Given the description of an element on the screen output the (x, y) to click on. 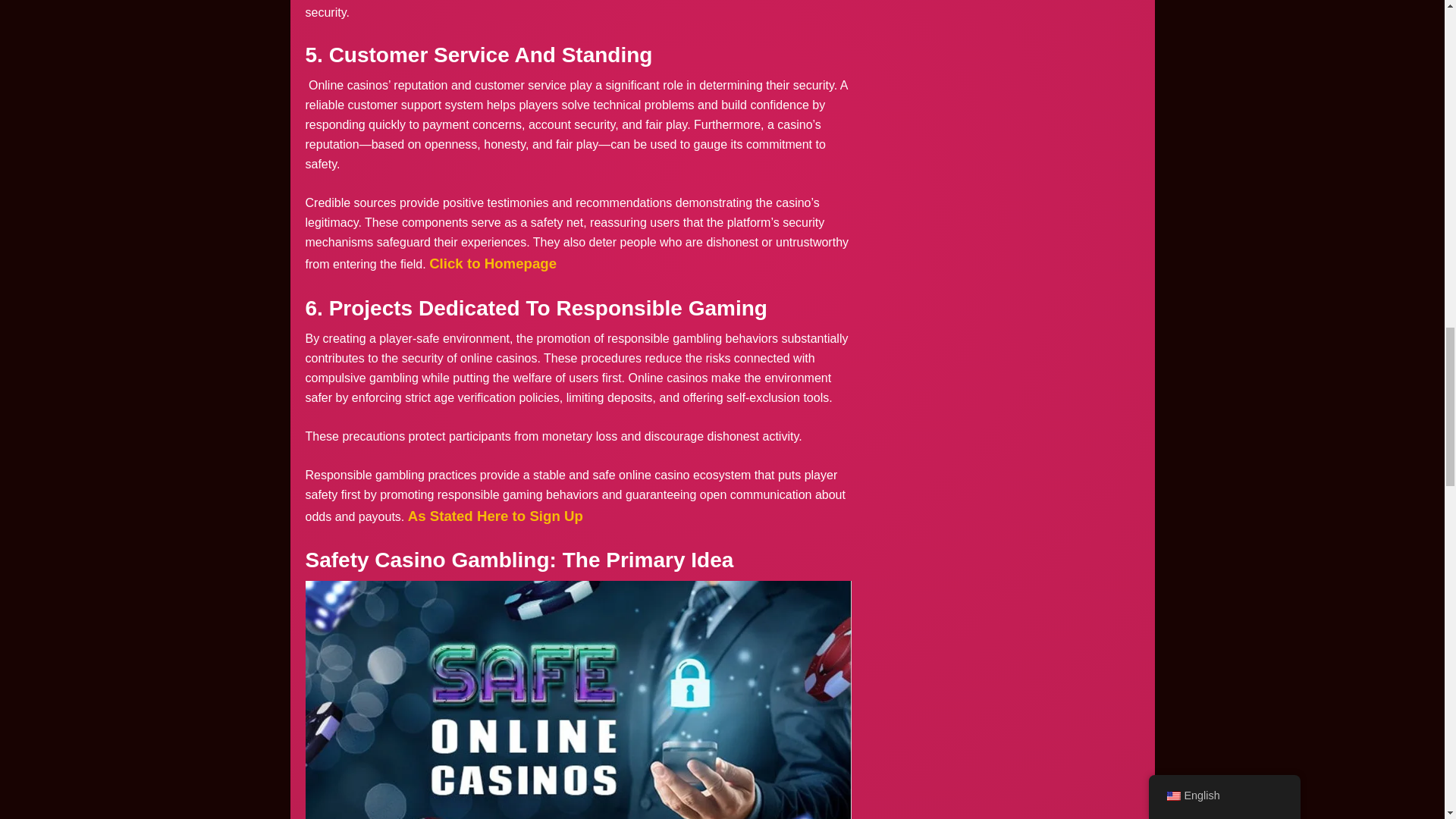
Click to Homepage (492, 263)
As Stated Here to Sign Up (495, 515)
